Given the description of an element on the screen output the (x, y) to click on. 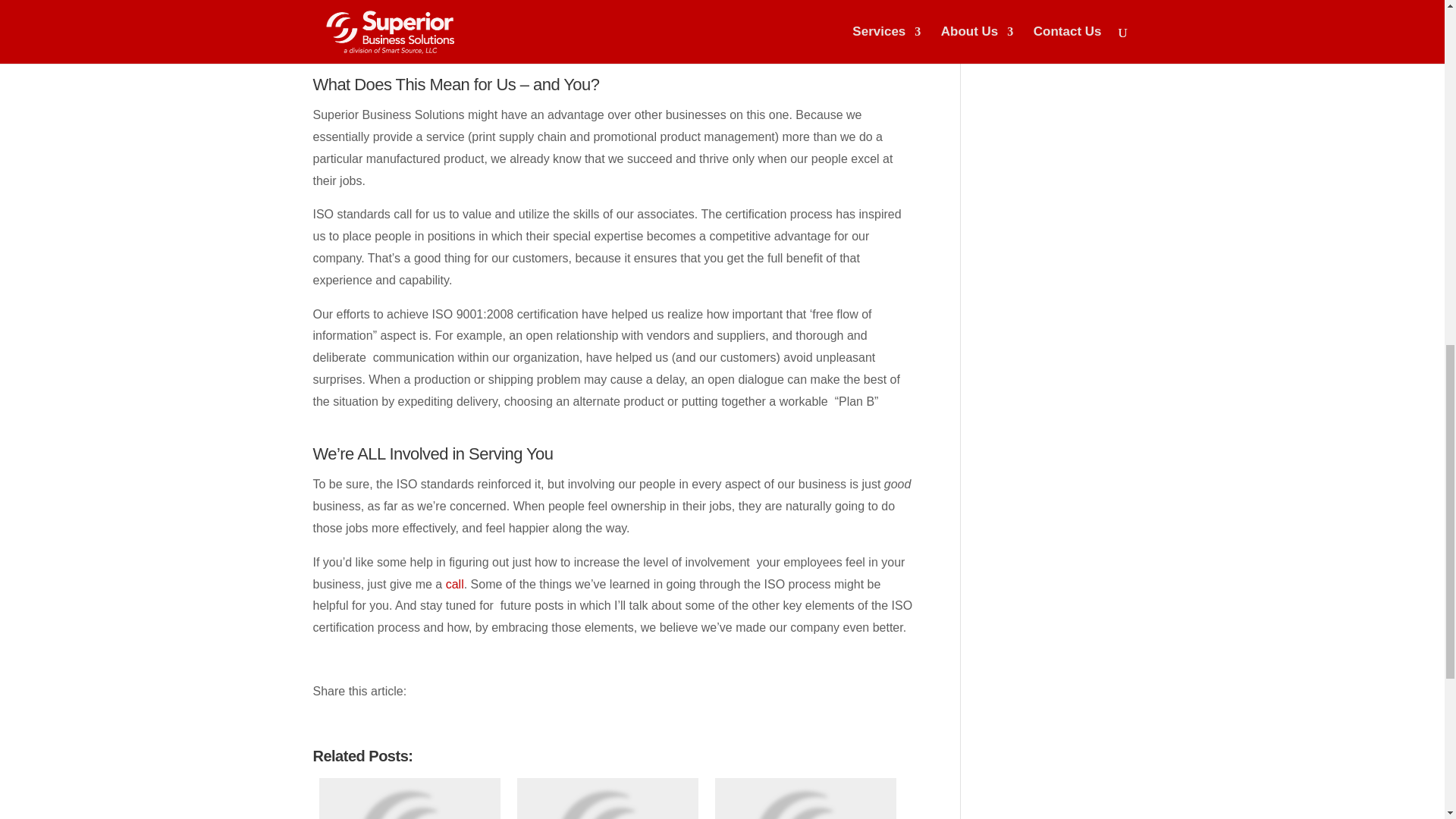
3 Business Forms to Open Sales Opportunities (607, 798)
3 Business Forms to Open Sales Opportunities (607, 798)
Top 10 Blogs for the Distribution Industry (805, 798)
call (454, 584)
Top 10 Blogs for the Distribution Industry (805, 798)
Three New Trends in Labels for Shipping and Marketing (409, 798)
Three New Trends in Labels for Shipping and Marketing (409, 798)
